Given the description of an element on the screen output the (x, y) to click on. 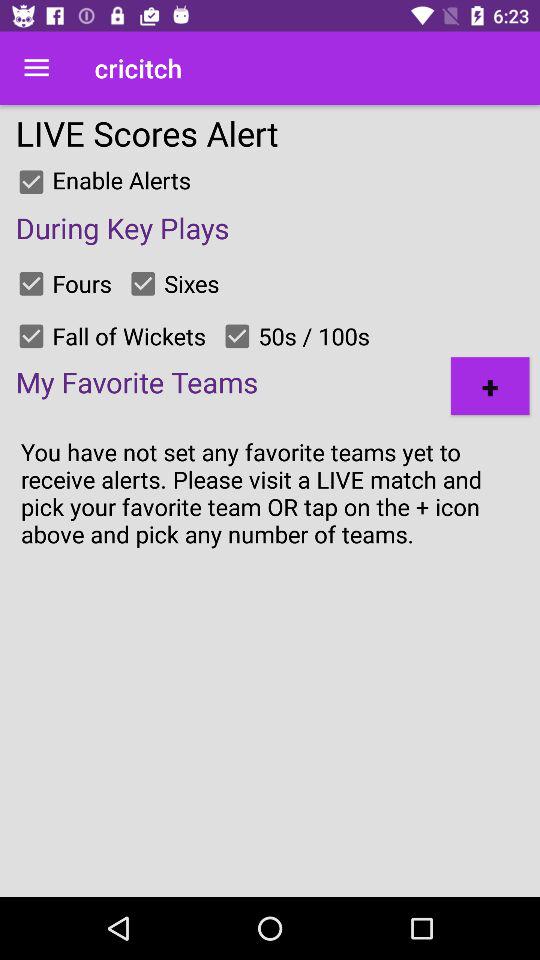
checkbox select (31, 182)
